Given the description of an element on the screen output the (x, y) to click on. 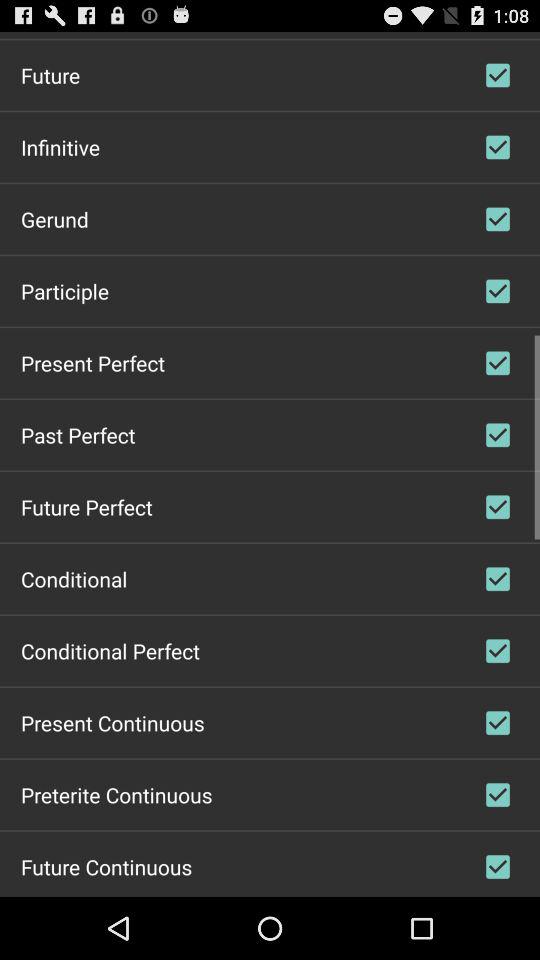
select app above conditional item (86, 506)
